Given the description of an element on the screen output the (x, y) to click on. 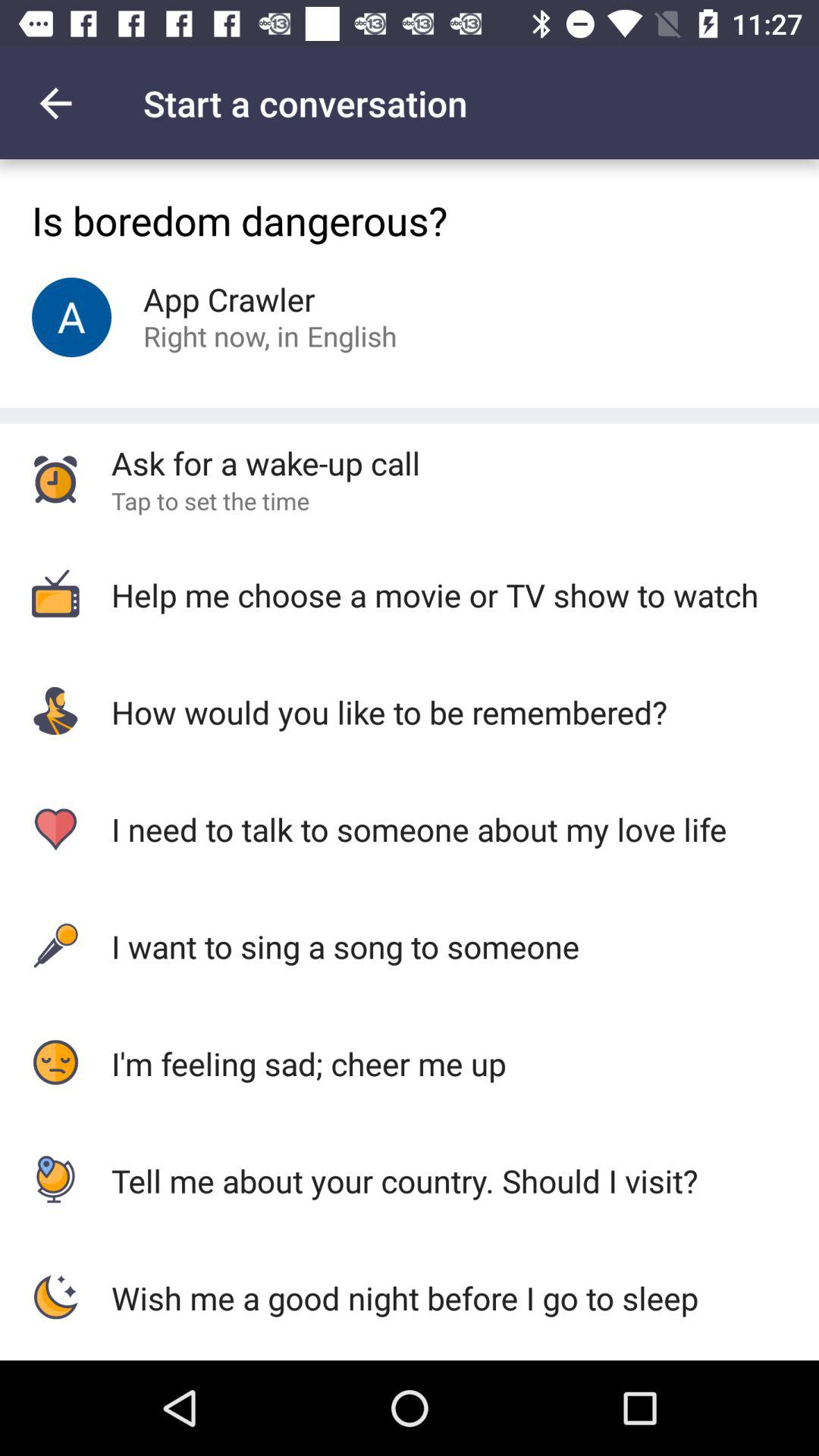
click item above the is boredom dangerous? (55, 103)
